Given the description of an element on the screen output the (x, y) to click on. 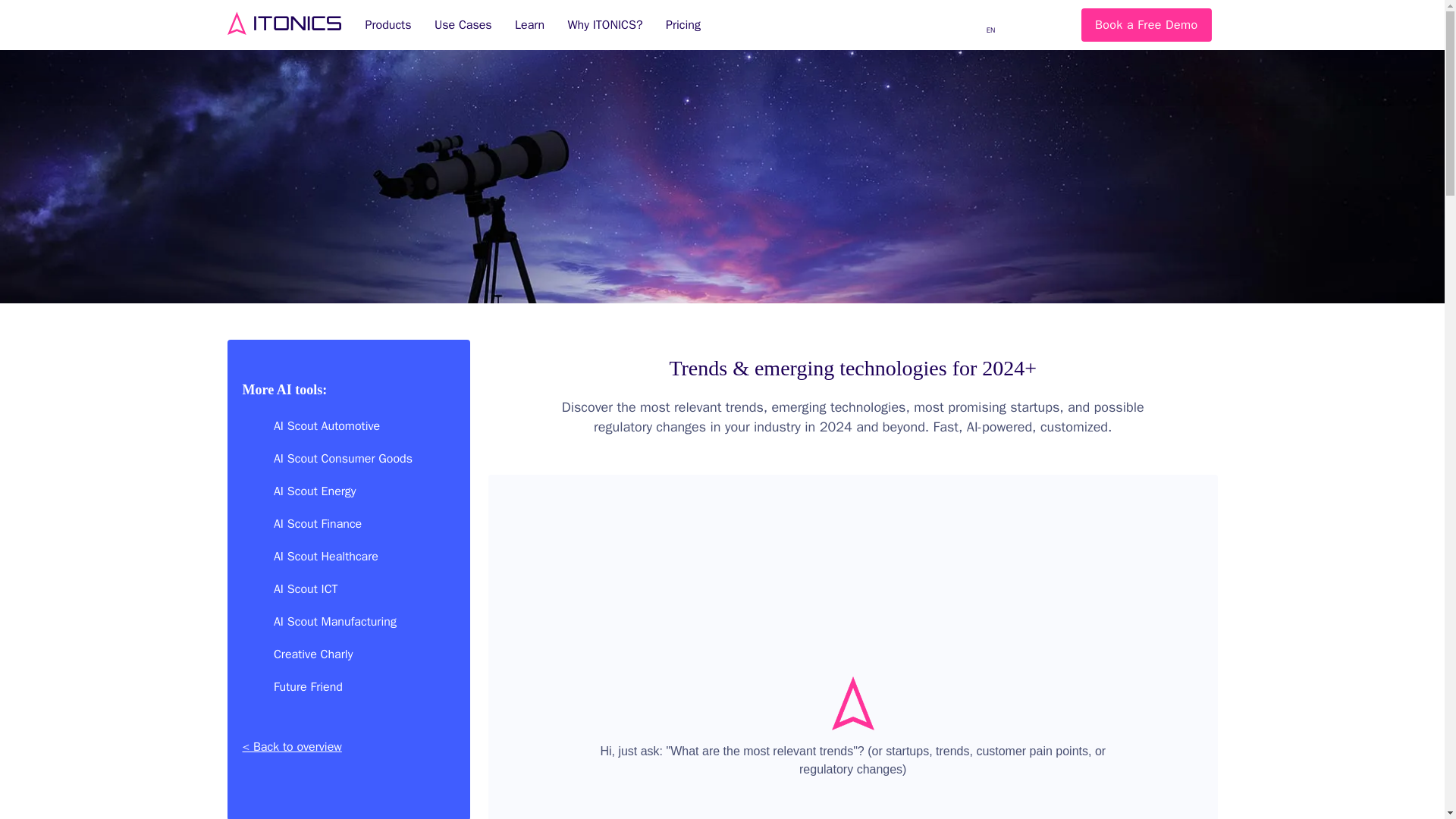
Products (396, 28)
ITONICS logo (283, 23)
Use Cases (468, 28)
